Given the description of an element on the screen output the (x, y) to click on. 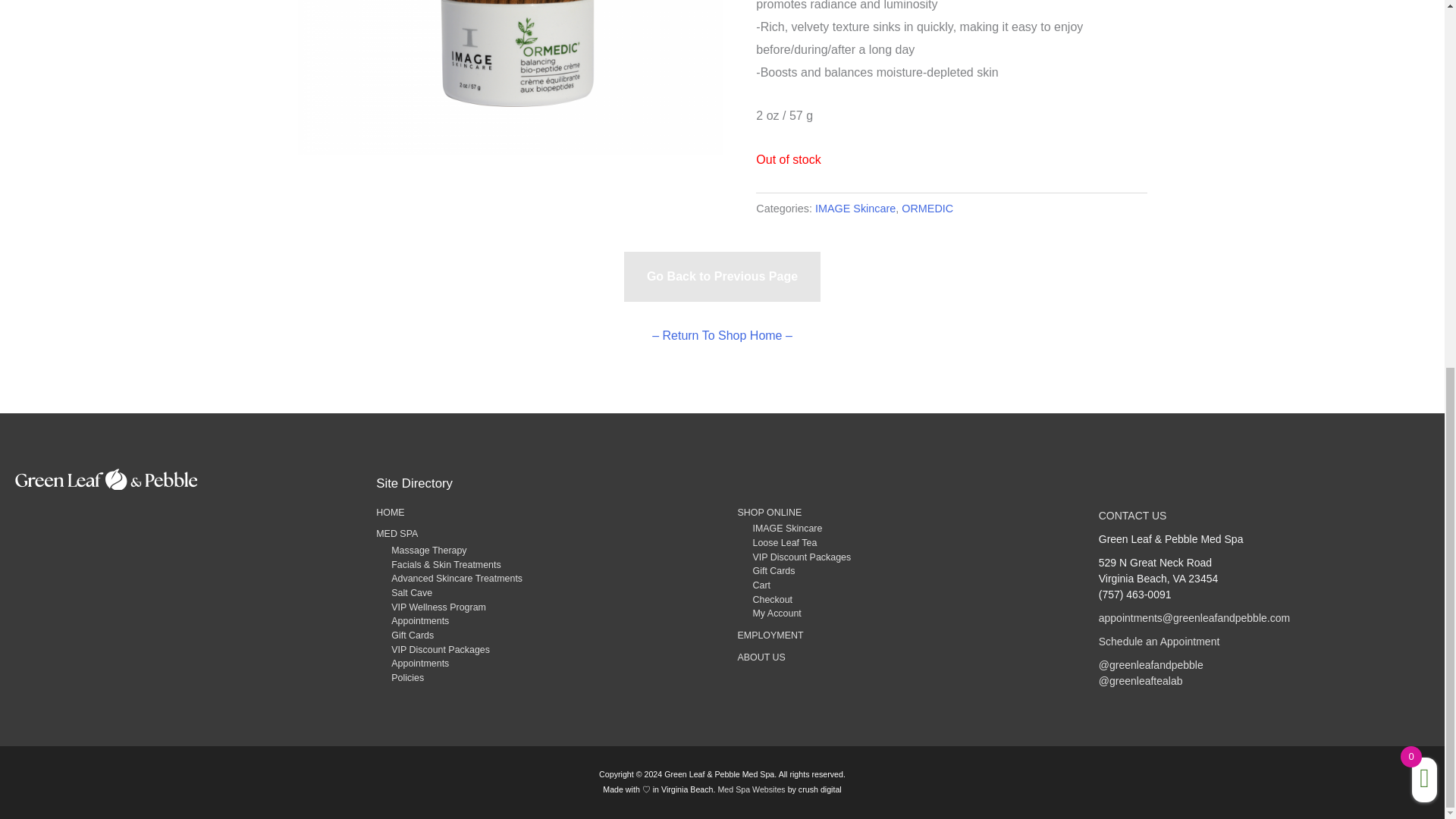
ORMEDIC-Balancing-bio-peptide-creme---white-background (509, 77)
Go Back to Previous Page (722, 276)
